Given the description of an element on the screen output the (x, y) to click on. 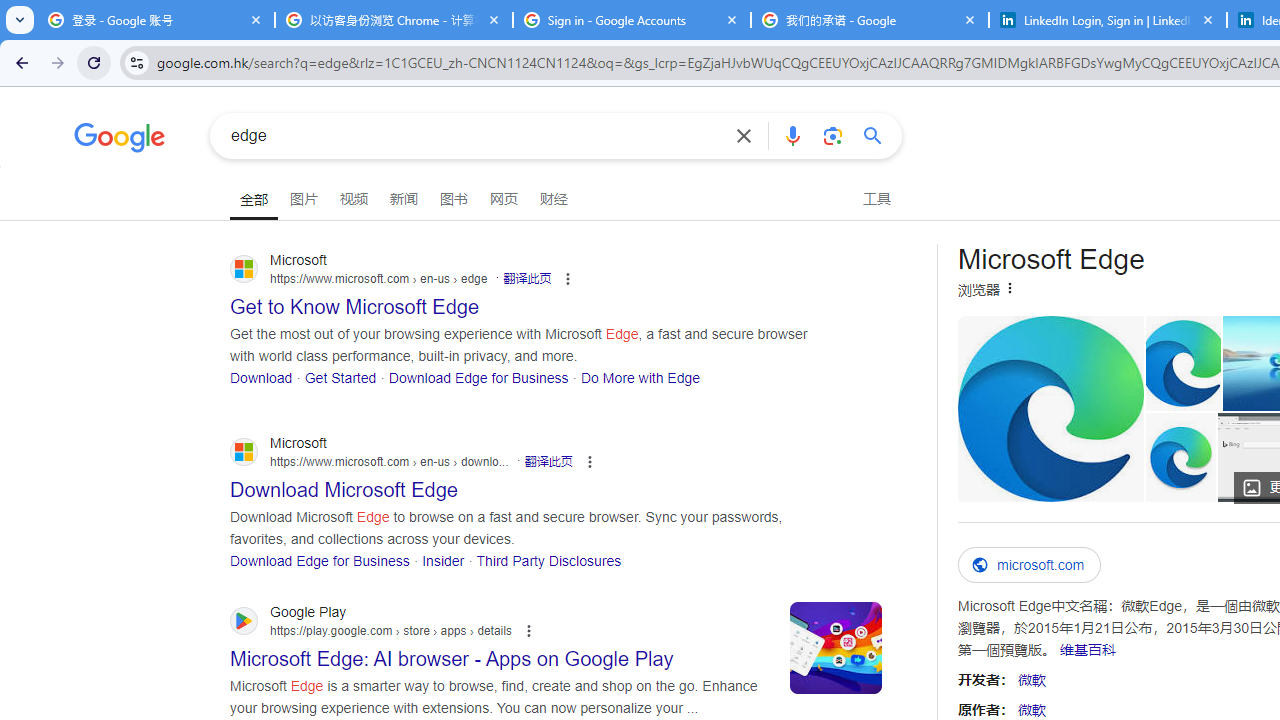
microsoft.com (1029, 565)
upload.wikimedia.org/wikipedia/commons/9/98/Micros... (1050, 408)
Google (120, 139)
Sign in - Google Accounts (632, 20)
LinkedIn Login, Sign in | LinkedIn (1108, 20)
